Given the description of an element on the screen output the (x, y) to click on. 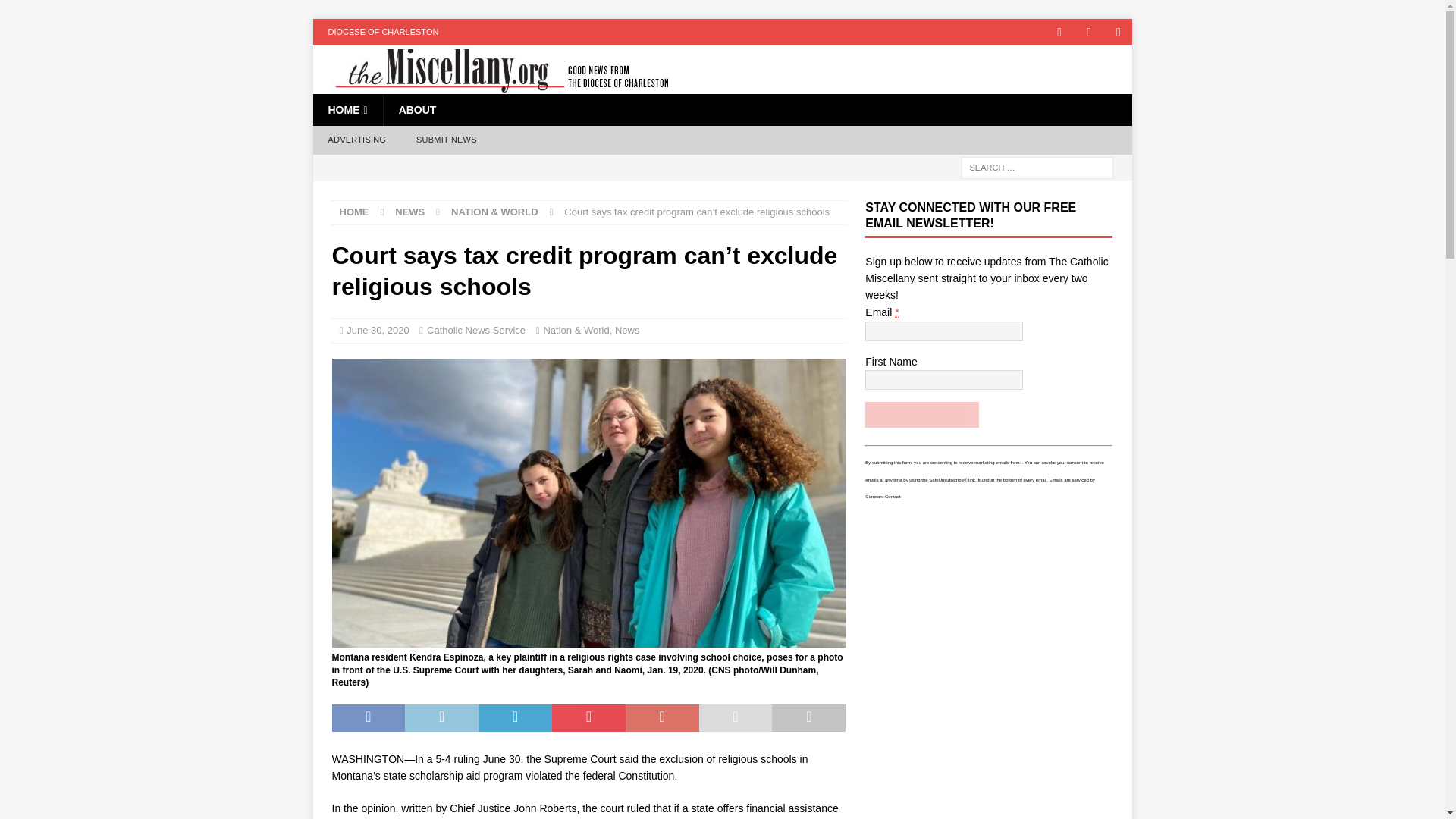
HOME (354, 211)
Join today! (921, 414)
News (627, 329)
ADVERTISING (357, 140)
ABOUT (416, 110)
HOME (347, 110)
The Catholic Miscellany (492, 85)
Search (56, 11)
SUBMIT NEWS (446, 140)
June 30, 2020 (377, 329)
Catholic News Service (475, 329)
DIOCESE OF CHARLESTON (382, 31)
NEWS (409, 211)
